Given the description of an element on the screen output the (x, y) to click on. 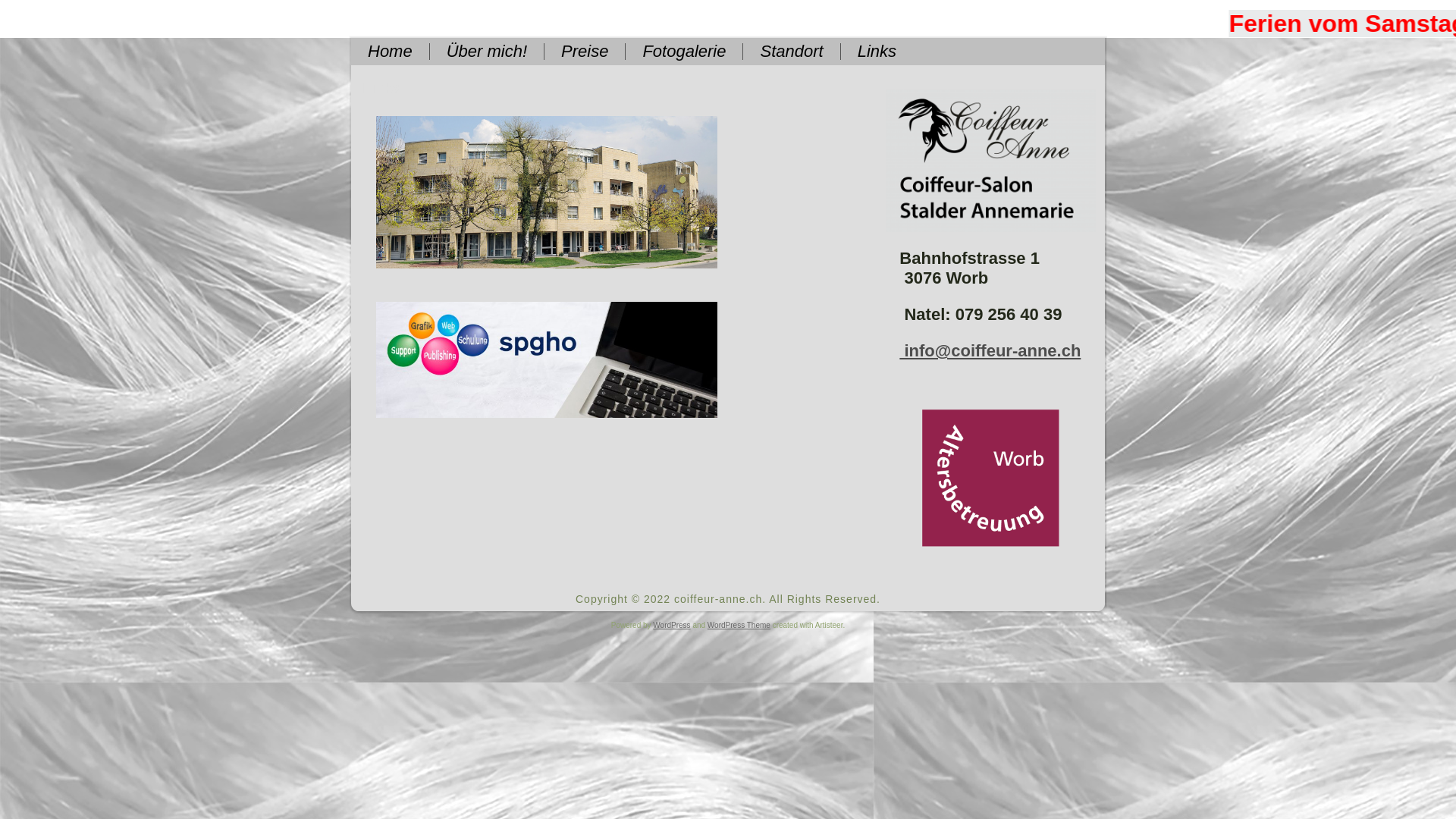
Preise Element type: text (584, 51)
info@coiffeur-anne.ch Element type: text (989, 350)
Home Element type: text (390, 51)
Links Element type: text (876, 51)
Fotogalerie Element type: text (683, 51)
WordPress Theme Element type: text (738, 625)
WordPress Element type: text (671, 625)
Standort Element type: text (791, 51)
Links Element type: text (381, 87)
